Given the description of an element on the screen output the (x, y) to click on. 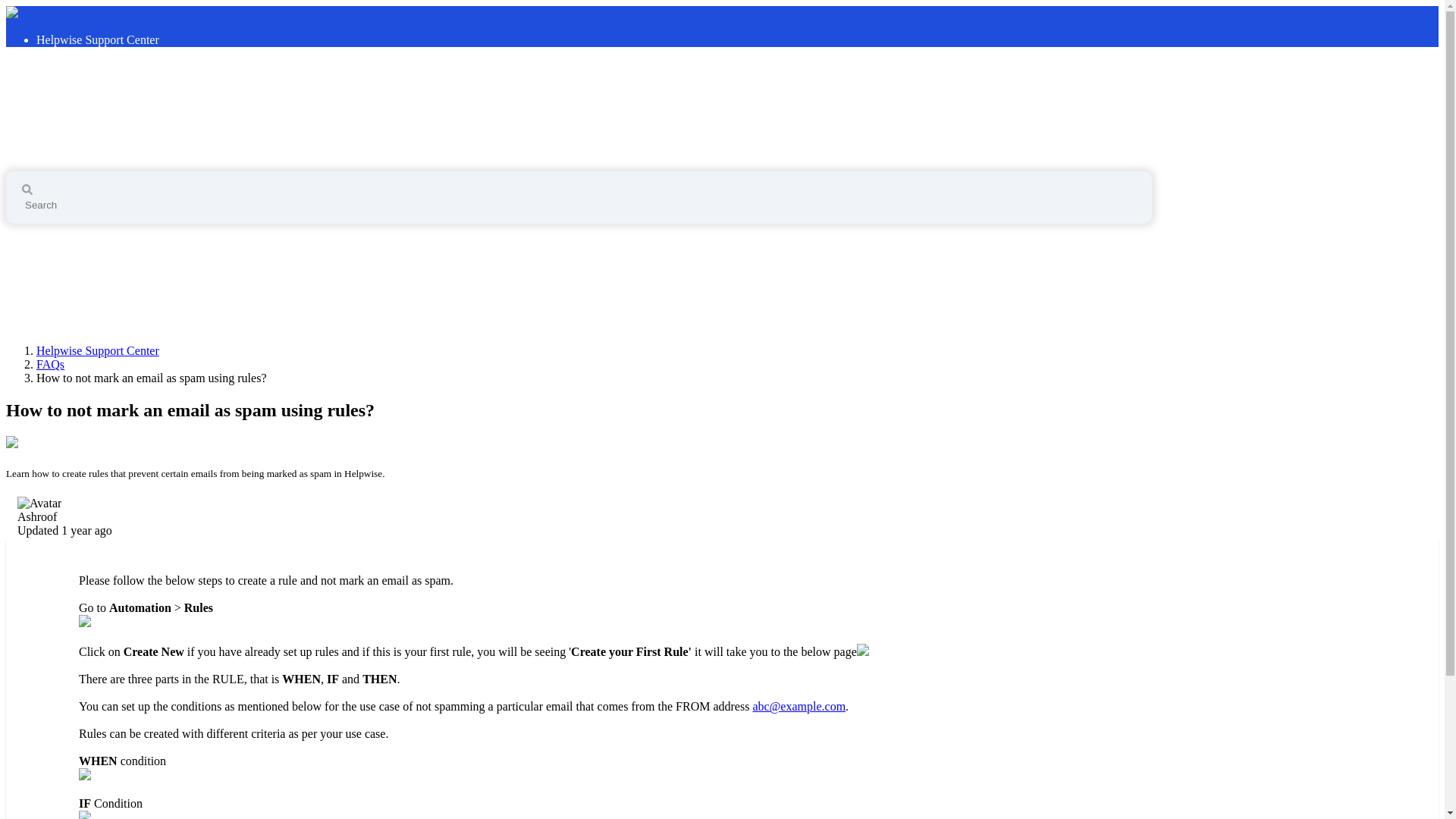
Helpwise Support Center (120, 118)
FAQs (50, 364)
Helpwise Support Center (97, 350)
